Given the description of an element on the screen output the (x, y) to click on. 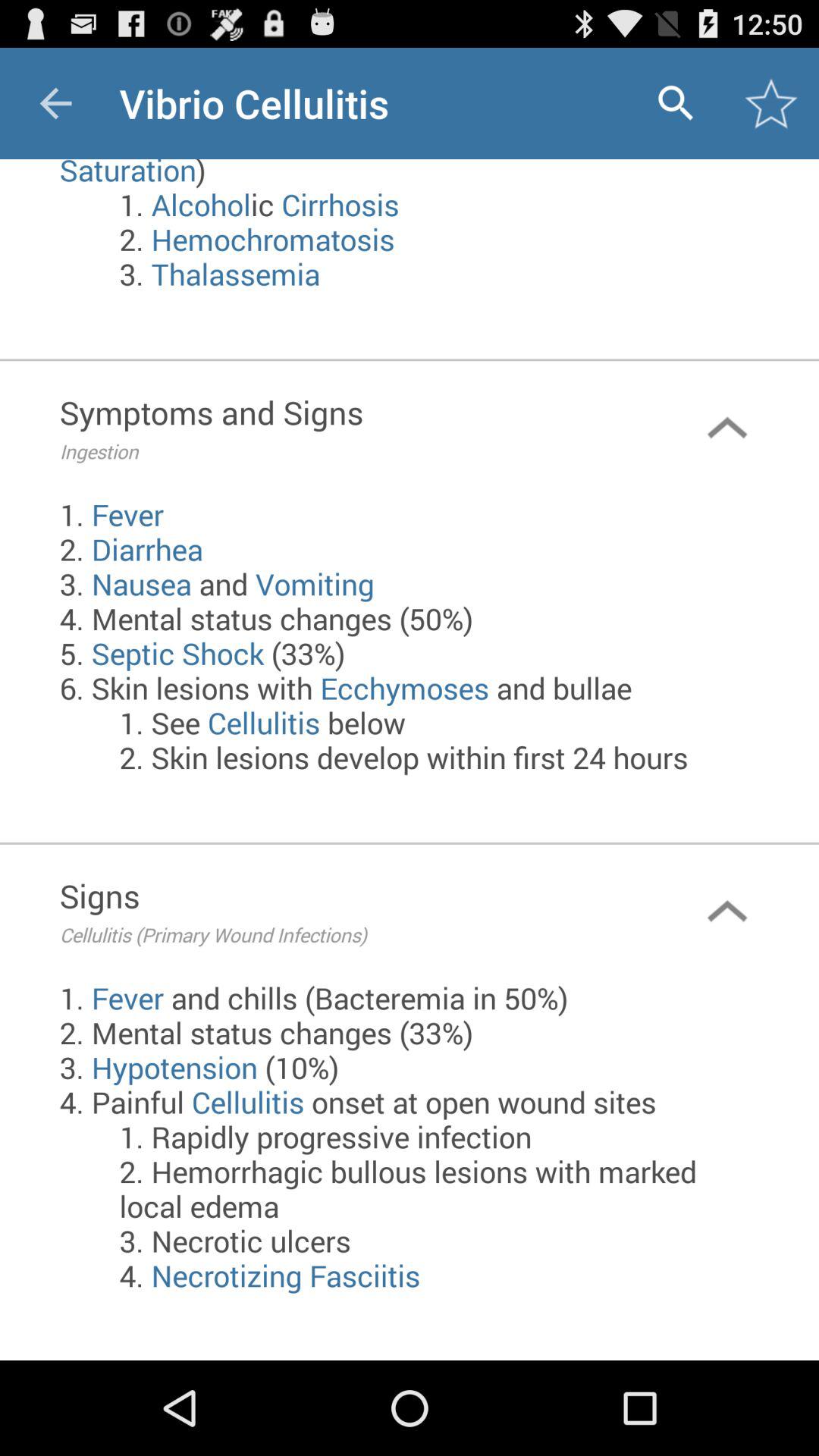
choose item to the left of vibrio cellulitis (55, 103)
